Given the description of an element on the screen output the (x, y) to click on. 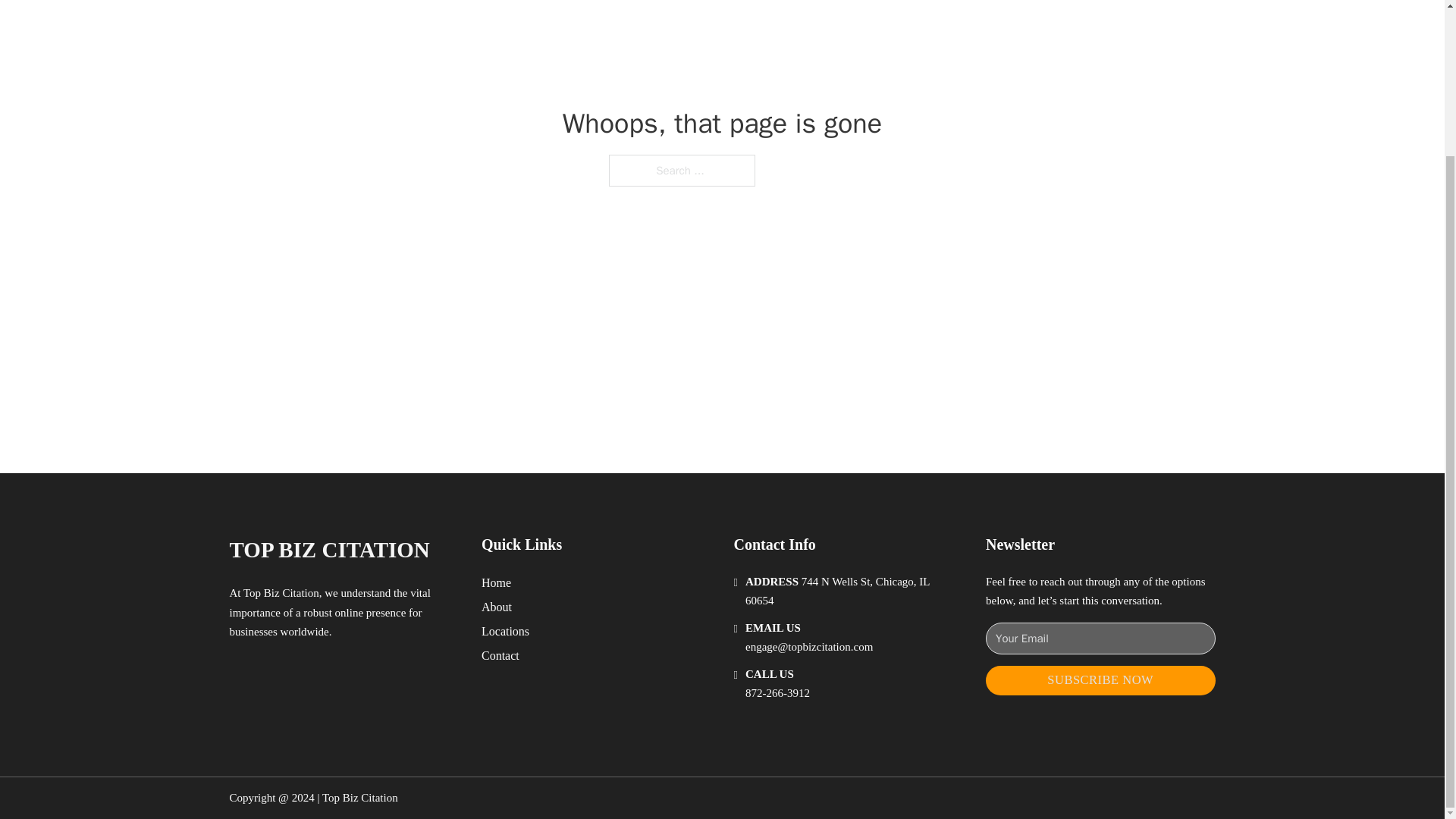
About (496, 607)
Locations (505, 630)
SUBSCRIBE NOW (1100, 680)
872-266-3912 (777, 693)
Home (496, 582)
TOP BIZ CITATION (328, 549)
Contact (500, 655)
